Given the description of an element on the screen output the (x, y) to click on. 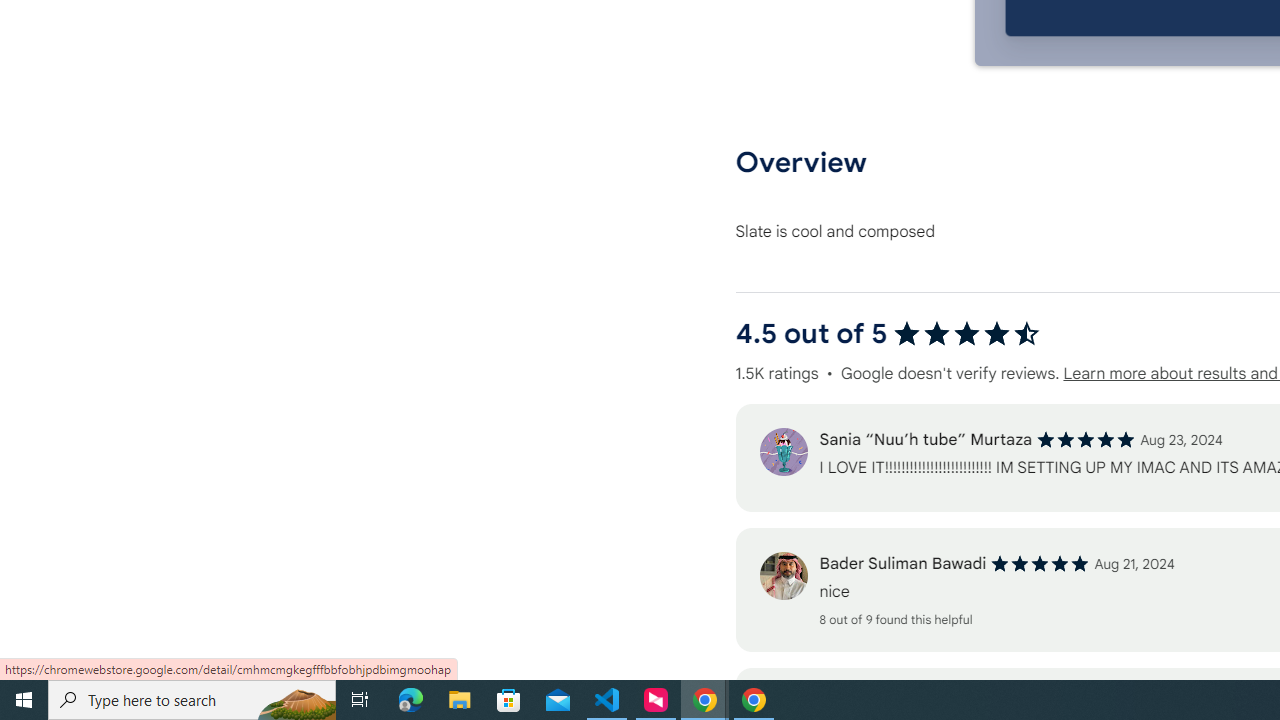
5 out of 5 stars (1039, 564)
Review's profile picture (783, 576)
4.5 out of 5 stars (965, 334)
